Given the description of an element on the screen output the (x, y) to click on. 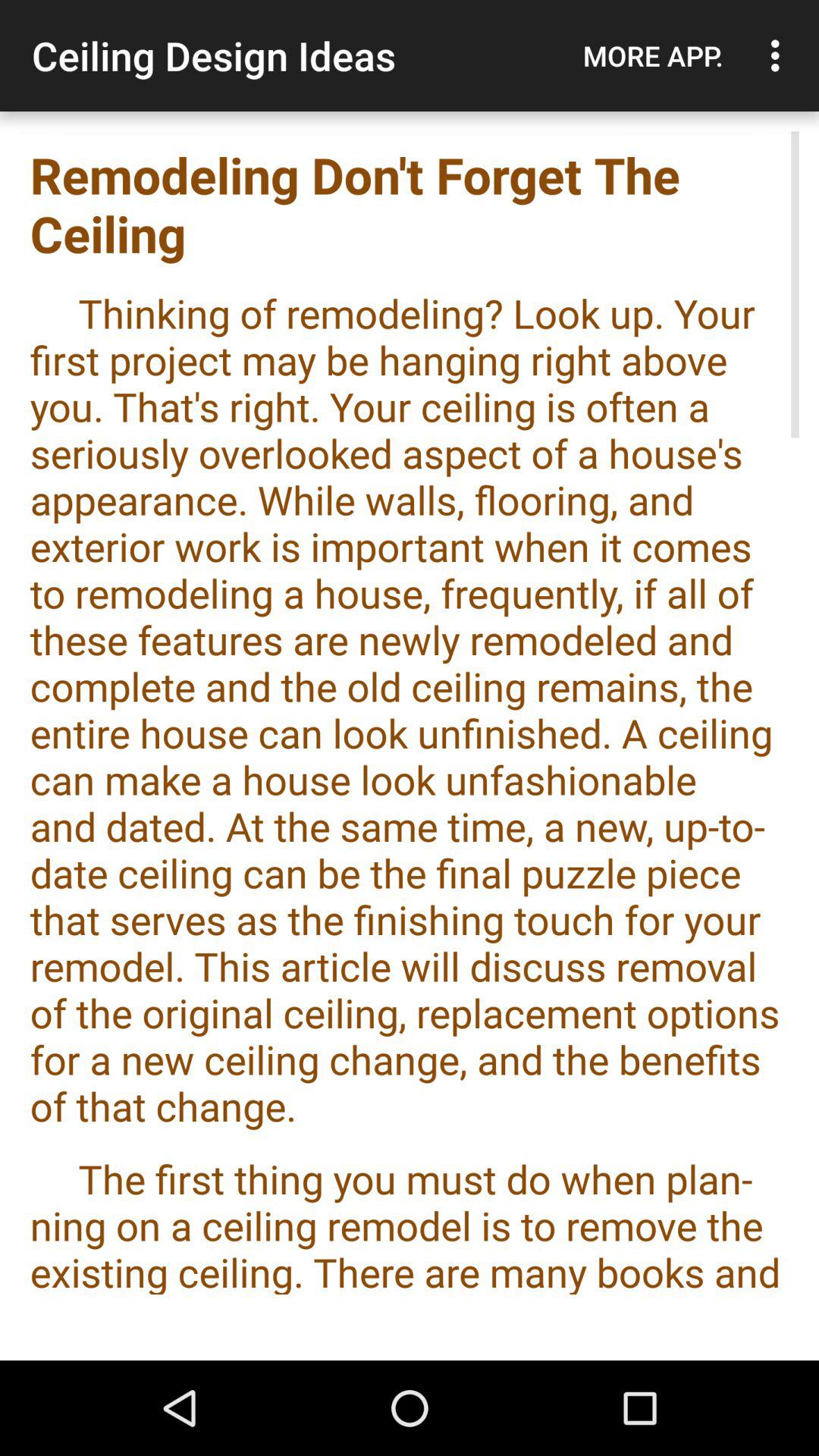
turn off the more app. item (653, 55)
